Given the description of an element on the screen output the (x, y) to click on. 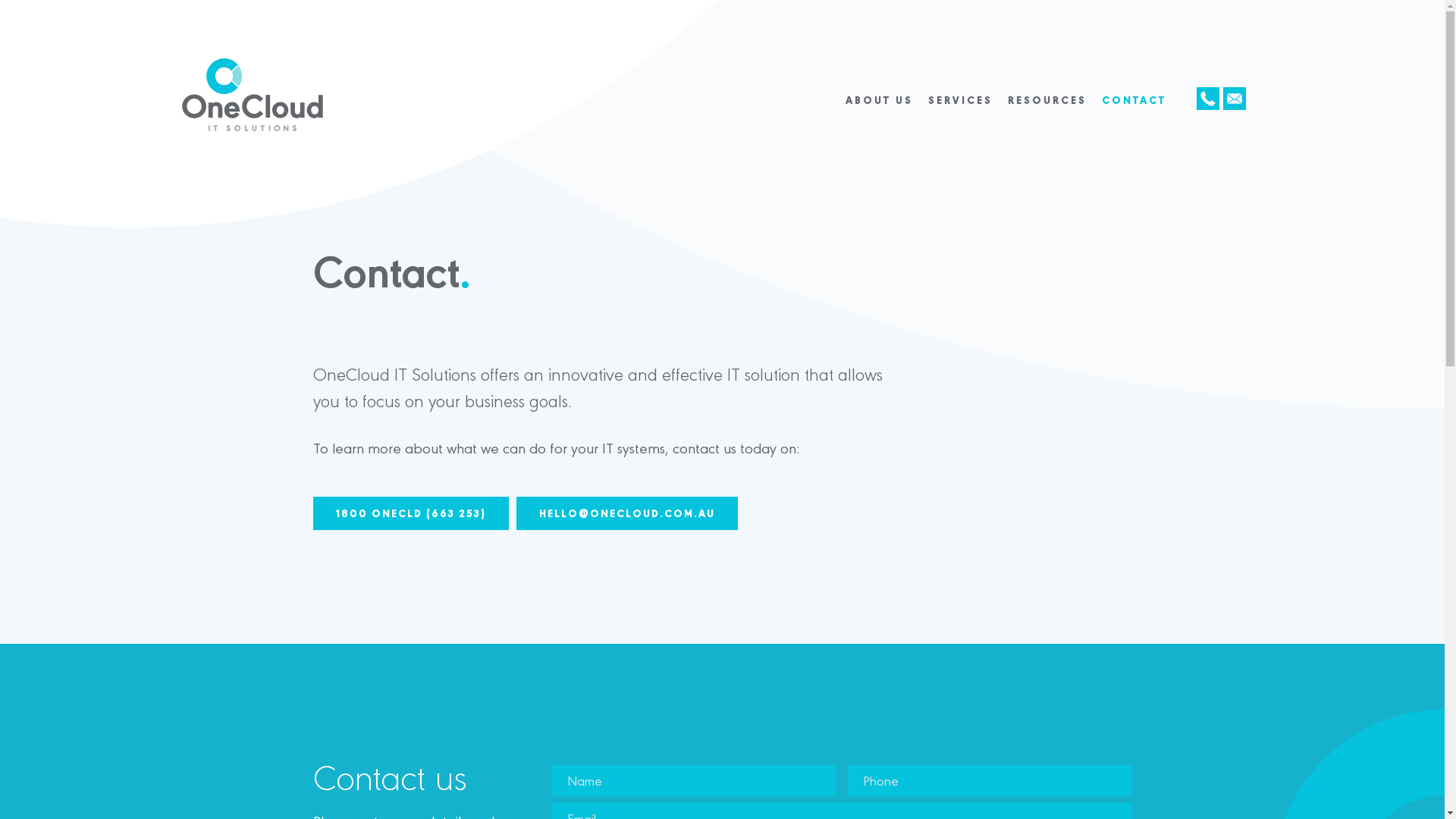
SERVICES Element type: text (960, 99)
1800 ONECLD (663 253) Element type: text (410, 513)
RESOURCES Element type: text (1046, 99)
CONTACT Element type: text (1133, 99)
ABOUT US Element type: text (878, 99)
HELLO@ONECLOUD.COM.AU Element type: text (626, 513)
